Given the description of an element on the screen output the (x, y) to click on. 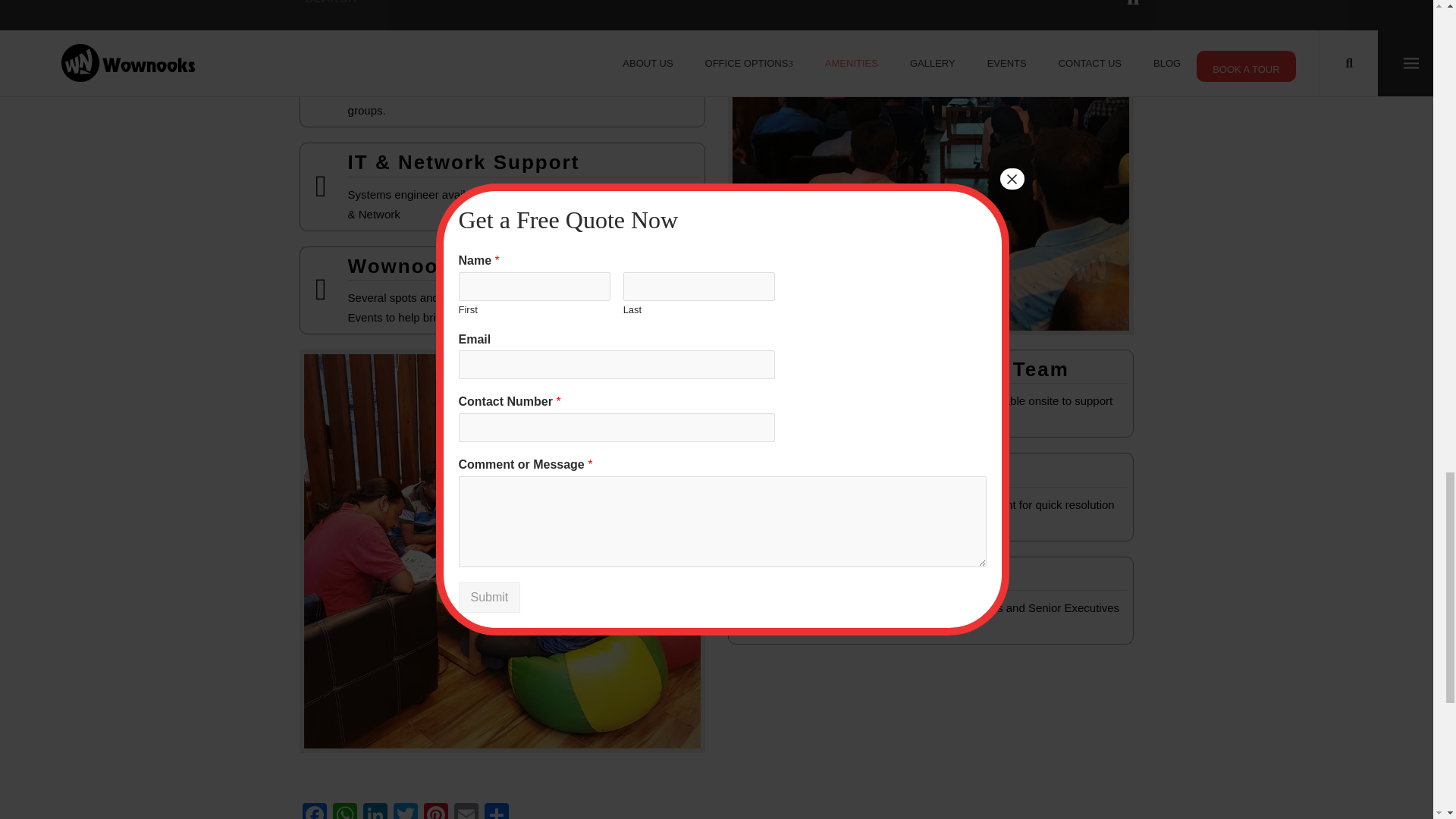
Email (466, 811)
LinkedIn (374, 811)
Pinterest (435, 811)
Twitter (405, 811)
Facebook (314, 811)
WhatsApp (344, 811)
